Given the description of an element on the screen output the (x, y) to click on. 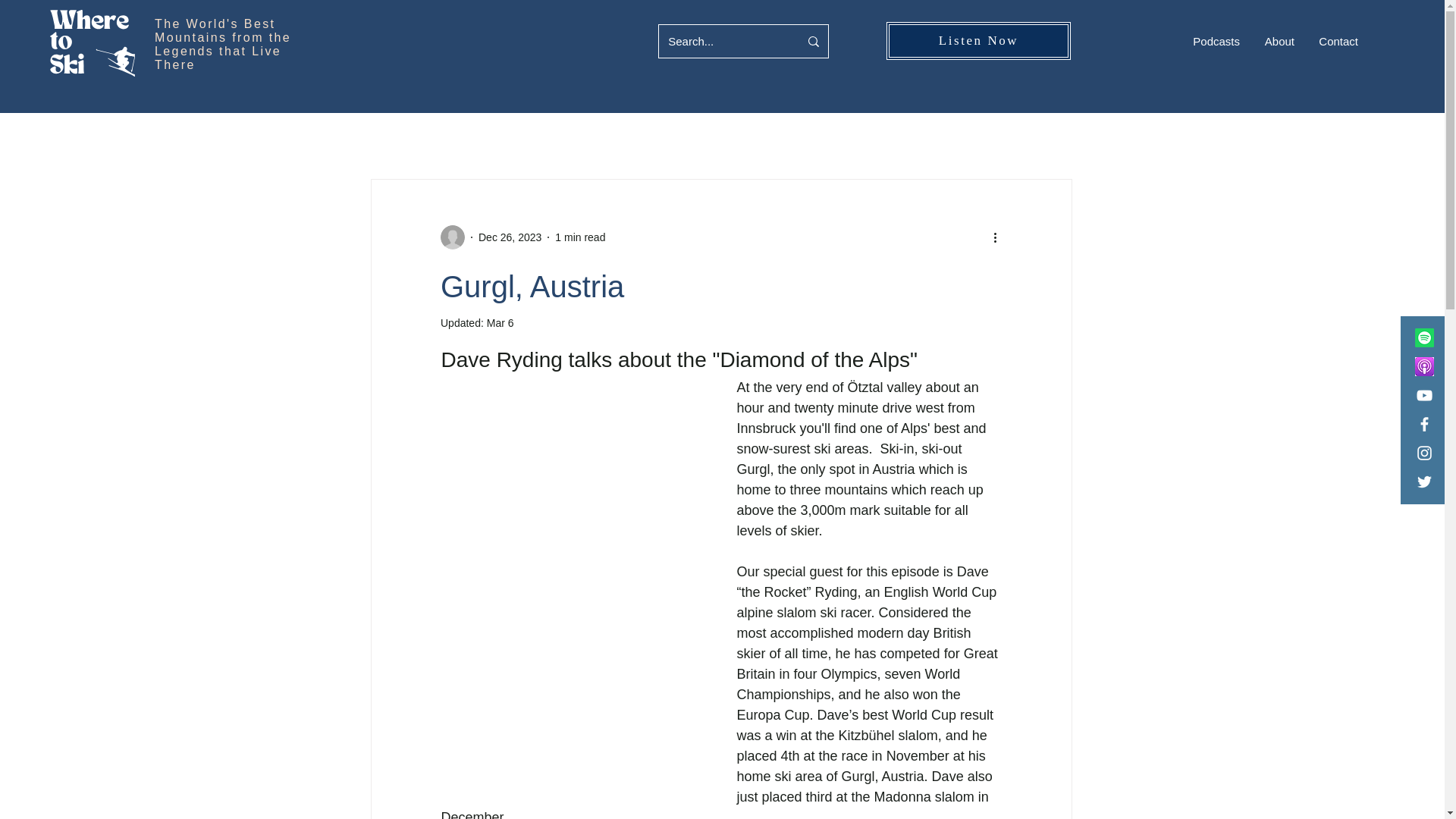
Listen Now (978, 40)
Podcasts (1215, 41)
Contact (1338, 41)
Dec 26, 2023 (510, 236)
About (1278, 41)
Mar 6 (499, 322)
The World's Best Mountains from the Legends that Live There (222, 44)
1 min read (579, 236)
